Given the description of an element on the screen output the (x, y) to click on. 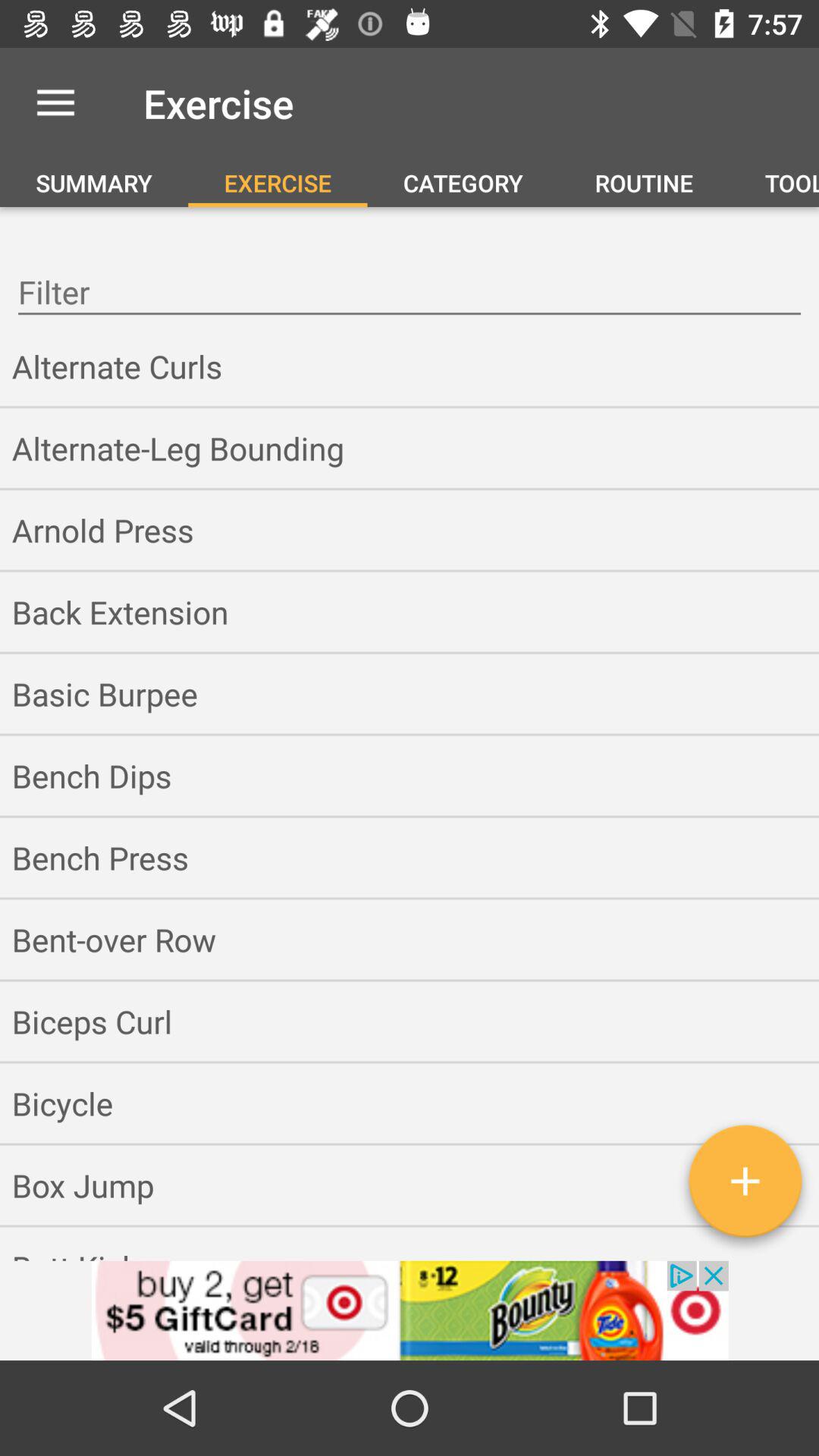
add exercise (745, 1186)
